Given the description of an element on the screen output the (x, y) to click on. 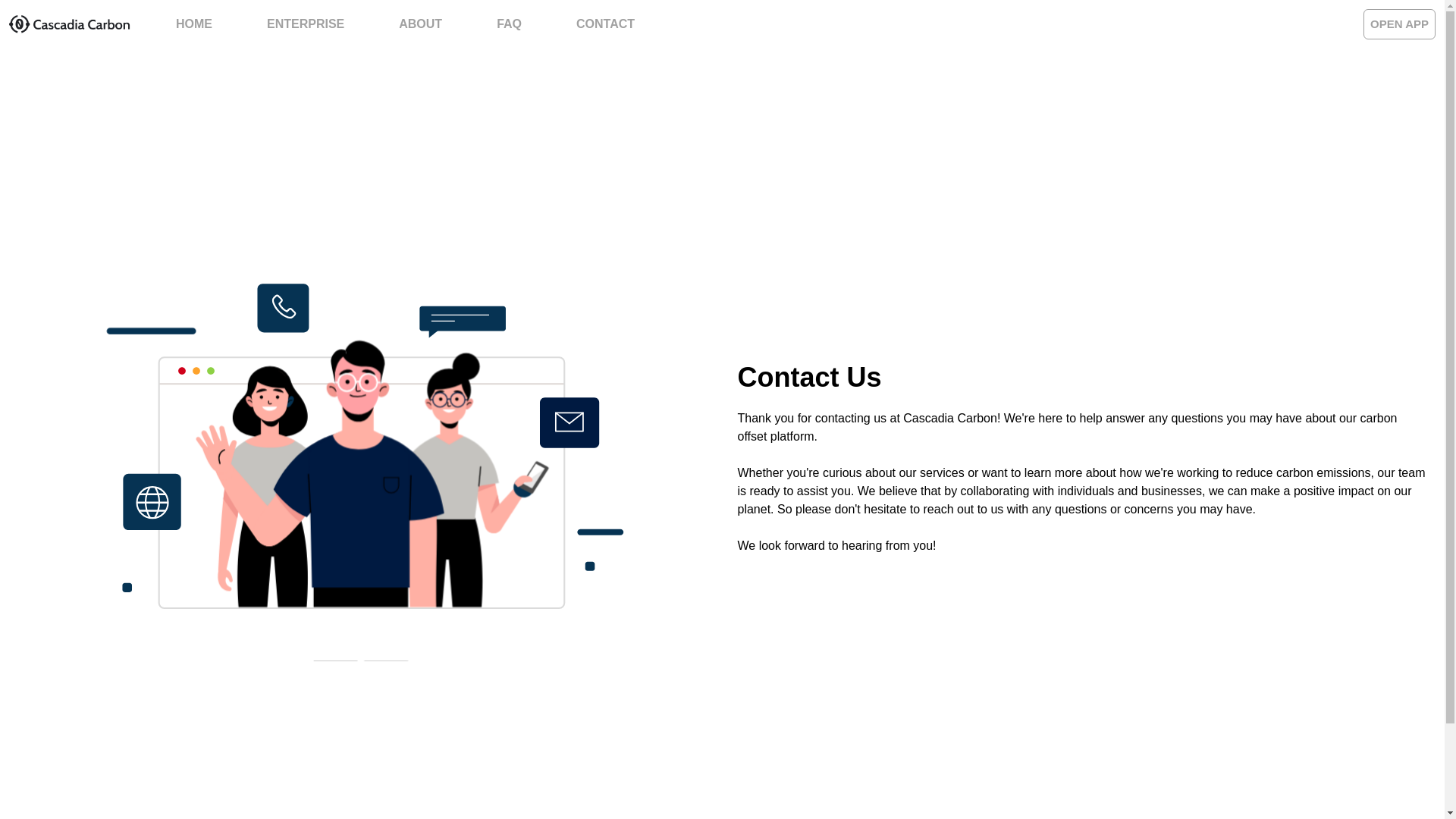
CONTACT (605, 22)
ABOUT (420, 24)
ENTERPRISE (305, 22)
OPEN APP (1398, 24)
ENTERPRISE (305, 24)
OPEN APP (1398, 22)
FAQ (509, 22)
CONTACT (605, 24)
HOME (193, 24)
ABOUT (420, 22)
HOME (193, 22)
FAQ (509, 24)
